Given the description of an element on the screen output the (x, y) to click on. 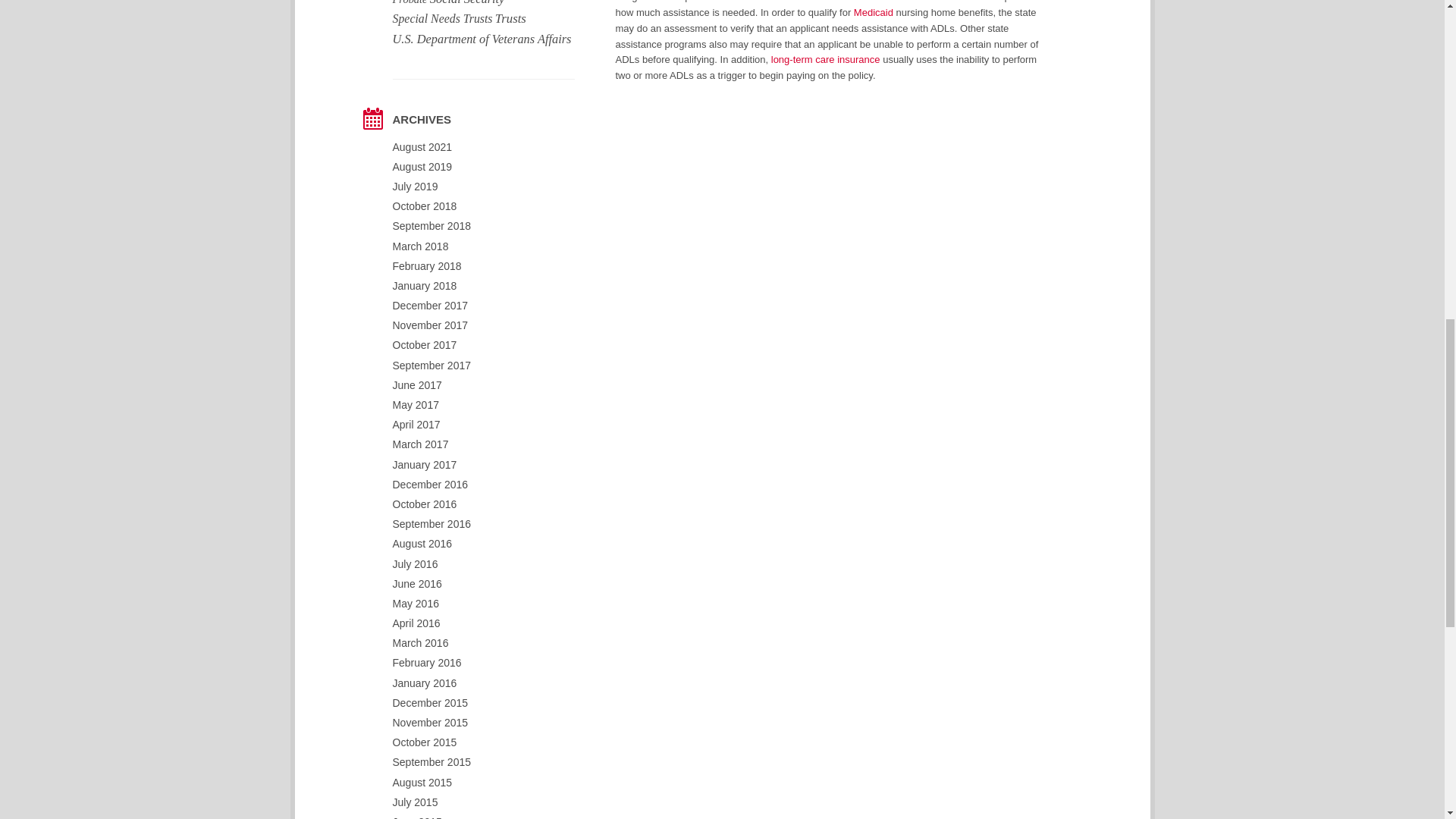
long-term care insurance (825, 59)
Medicaid (873, 12)
